Given the description of an element on the screen output the (x, y) to click on. 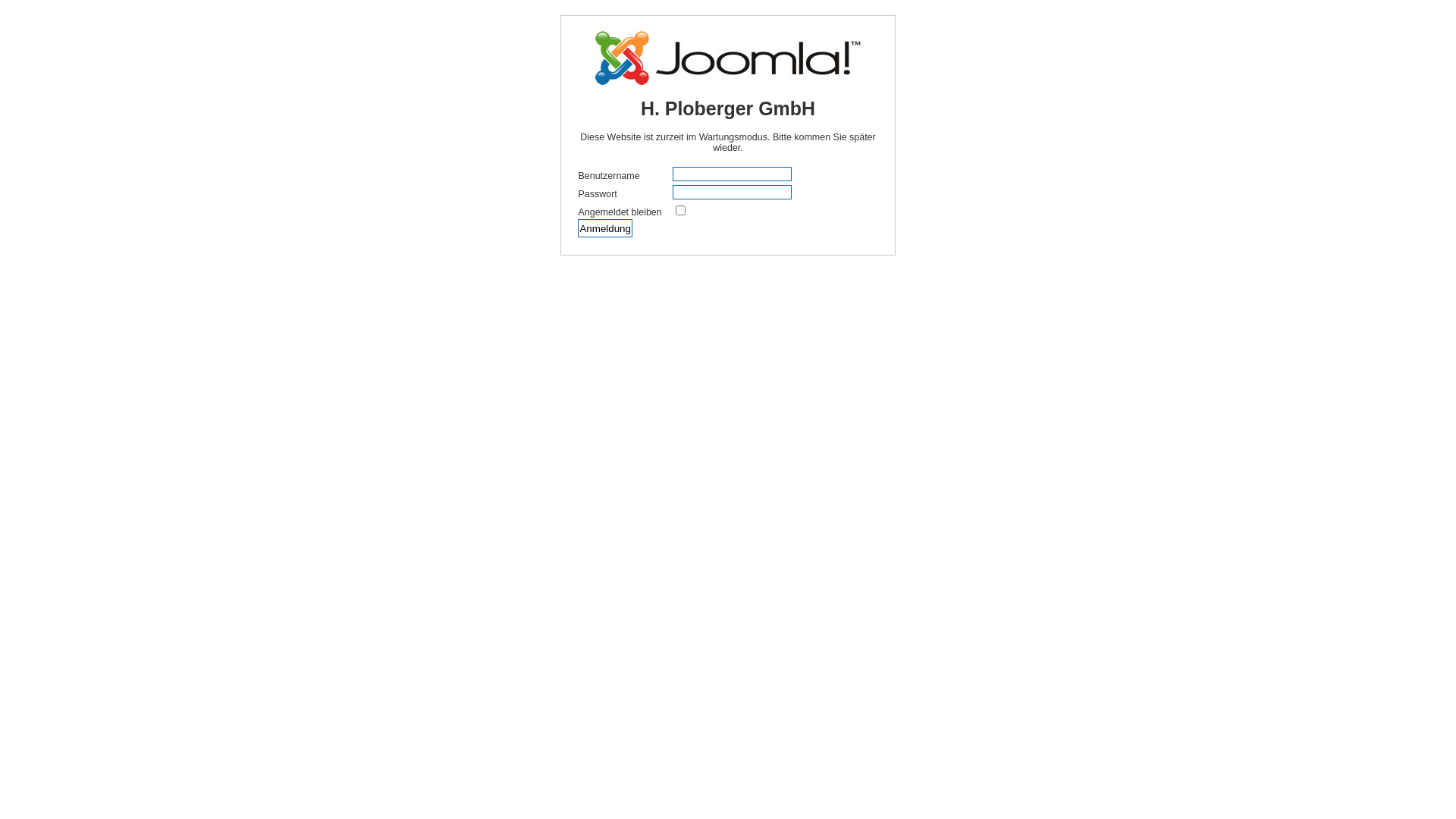
Anmeldung Element type: text (604, 228)
